Given the description of an element on the screen output the (x, y) to click on. 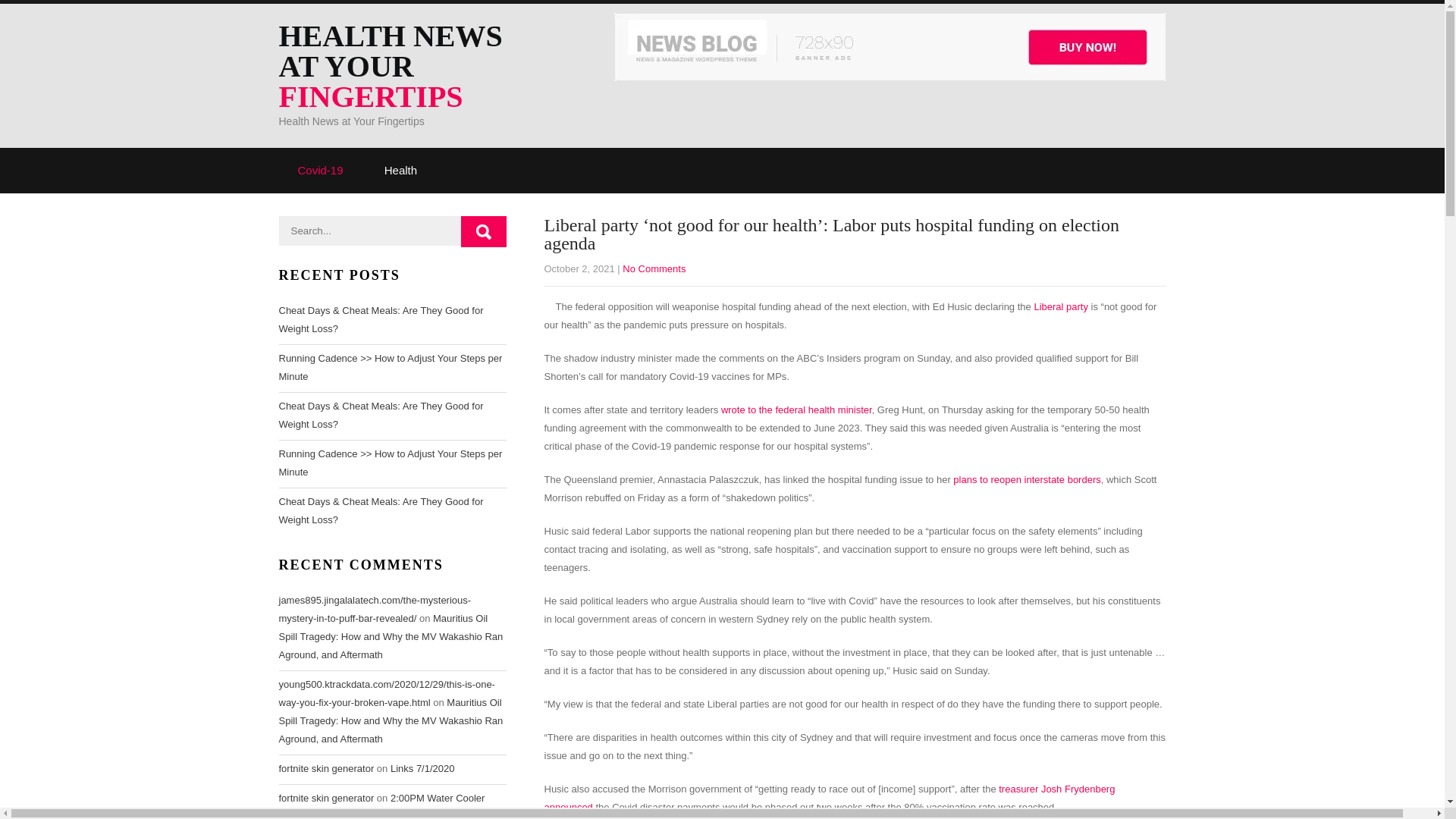
Search (483, 231)
Search (483, 231)
plans to reopen interstate borders (1026, 479)
treasurer Josh Frydenberg announced (829, 797)
Covid-19 (320, 170)
fortnite skin generator (326, 767)
wrote to the federal health minister (796, 409)
No Comments (654, 268)
fortnite skin generator (326, 797)
Search (483, 231)
HEALTH NEWS AT YOUR FINGERTIPS (411, 66)
Health (400, 170)
Liberal party (1060, 306)
